Given the description of an element on the screen output the (x, y) to click on. 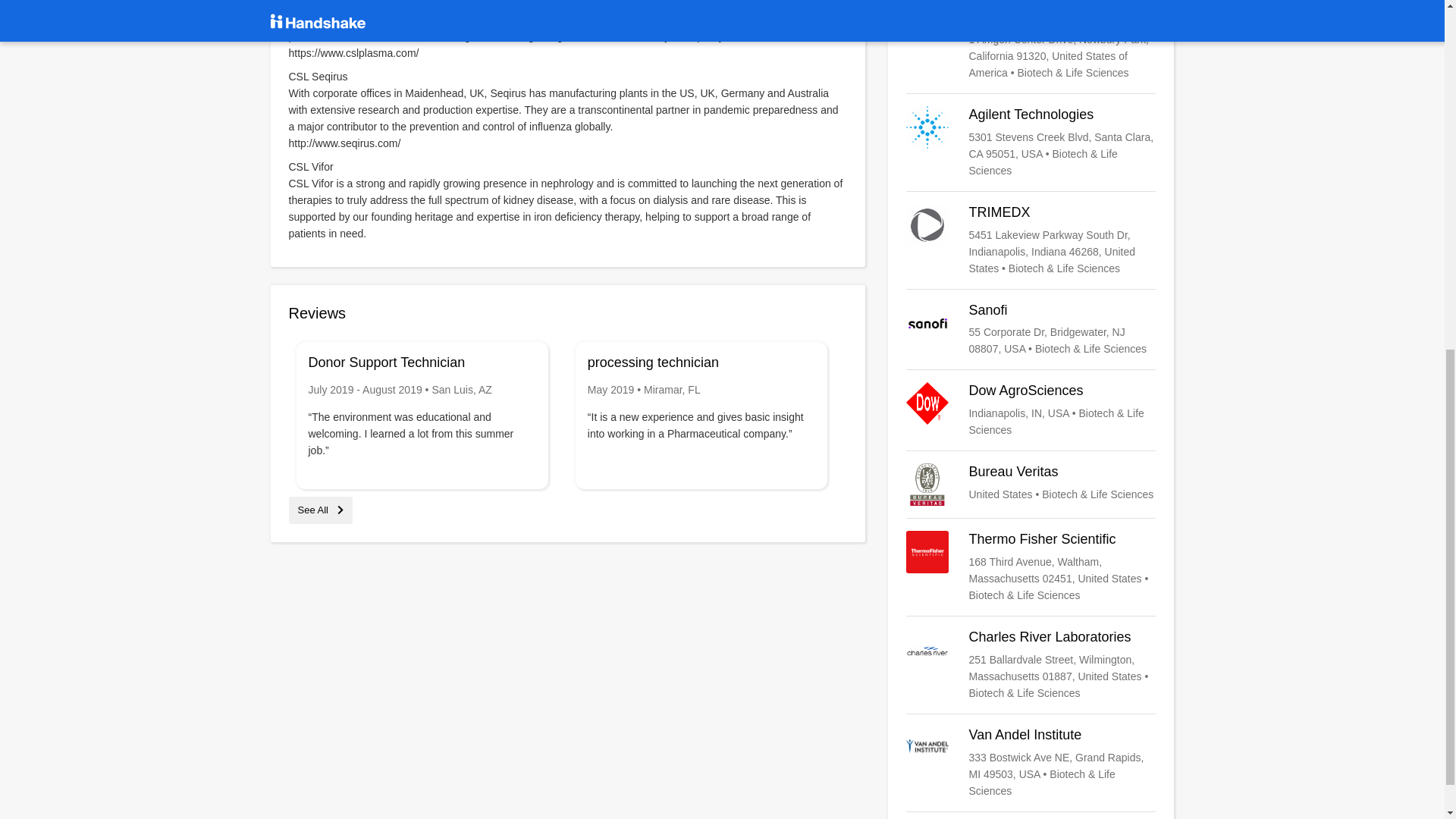
Van Andel Institute (1030, 762)
Thermo Fisher Scientific (1030, 566)
Charles River Laboratories (1030, 664)
Dow AgroSciences (1030, 410)
Amgen (1030, 44)
TRIMEDX (1030, 239)
Agilent Technologies (1030, 142)
See All (320, 509)
Sanofi (1030, 329)
Bureau Veritas (1030, 484)
